Given the description of an element on the screen output the (x, y) to click on. 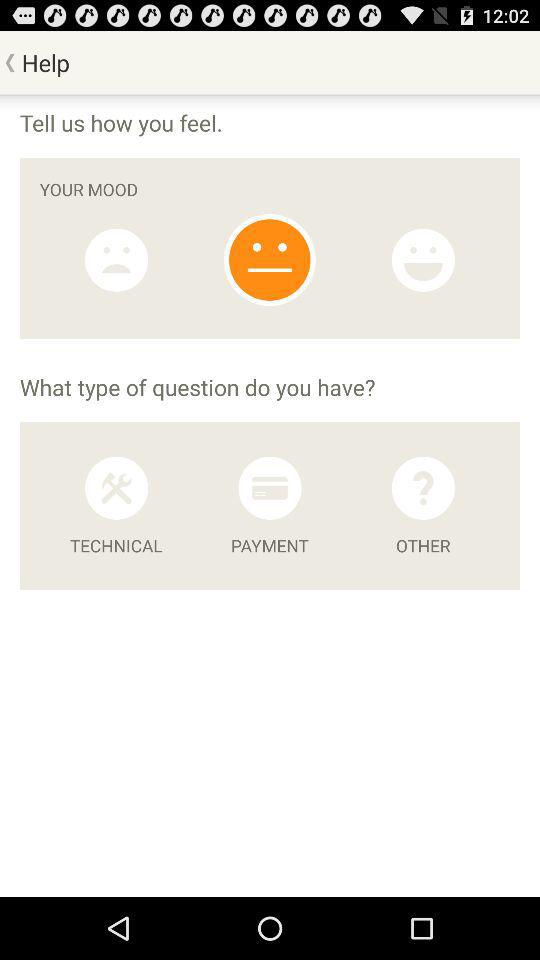
other menu option (423, 488)
